Given the description of an element on the screen output the (x, y) to click on. 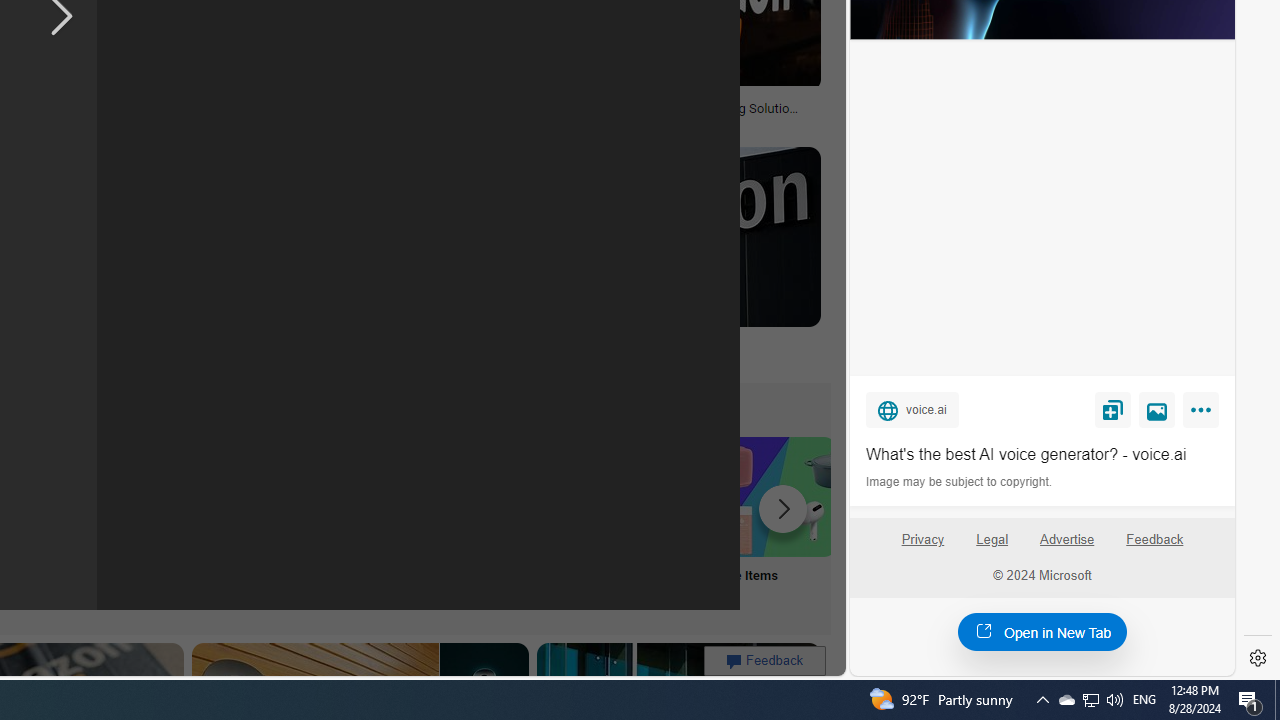
Online Shopping Homepage (248, 521)
Open in New Tab (1042, 631)
vecteezy.com (317, 121)
More (1204, 413)
protothema.gr (662, 359)
View image (1157, 409)
mobilemarketingmagazine.com (651, 123)
Image result for amazon (662, 236)
Amazonprotothema.grSave (662, 260)
Amazon Visa Card Login Visa Card Login (643, 521)
Advertise (1066, 539)
Amazon Sale Items Sale Items (775, 521)
Privacy (922, 539)
voice.ai (912, 409)
